Given the description of an element on the screen output the (x, y) to click on. 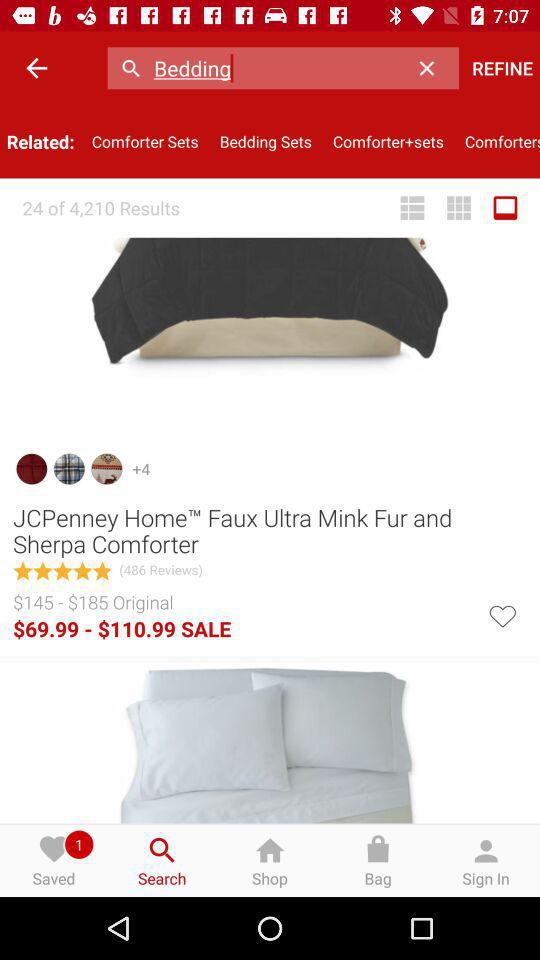
turn off the item above jcpenney home faux item (505, 208)
